Given the description of an element on the screen output the (x, y) to click on. 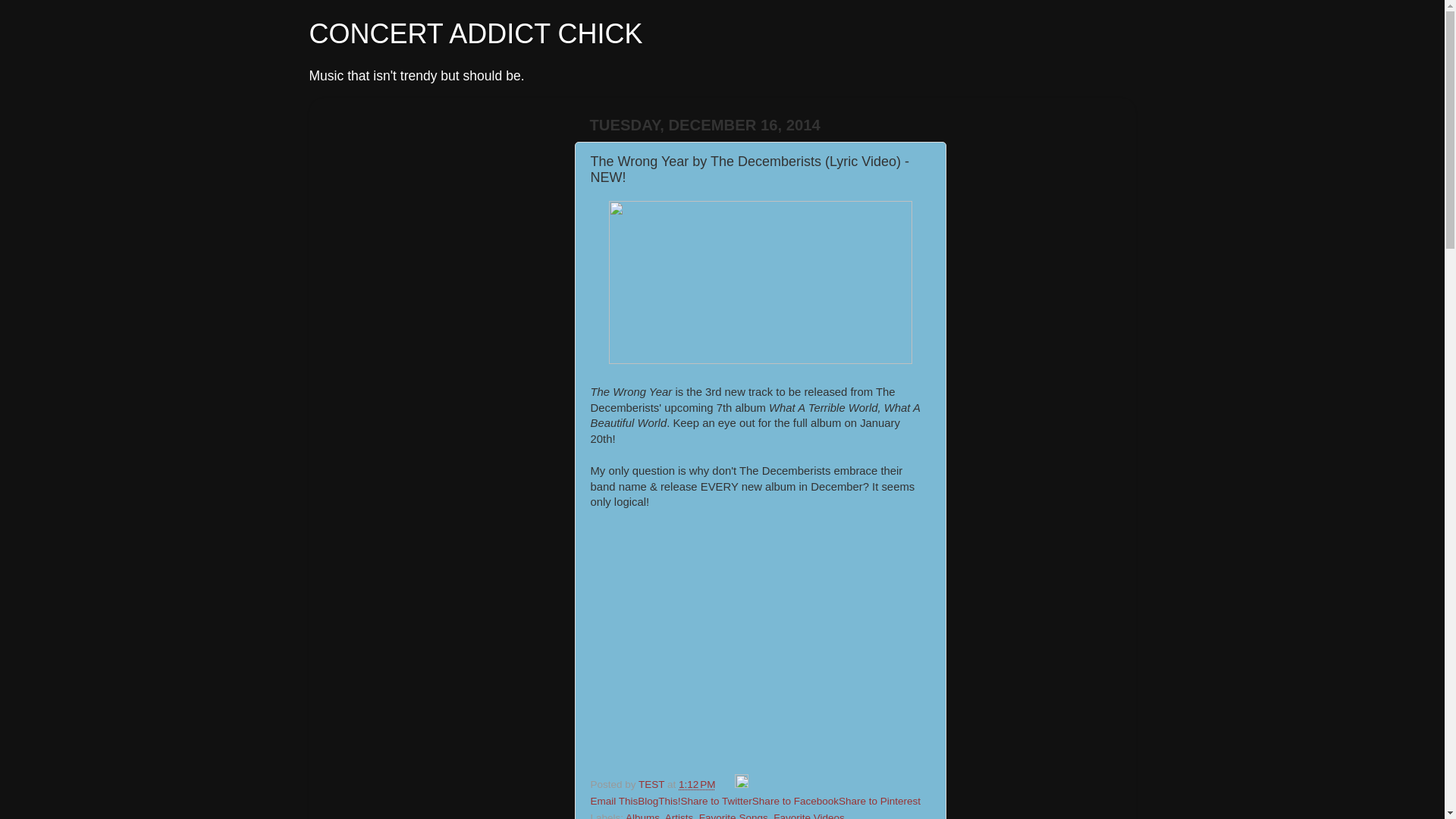
Email This (613, 800)
permanent link (696, 784)
Edit Post (741, 784)
BlogThis! (658, 800)
author profile (652, 784)
Favorite Songs (733, 815)
Share to Facebook (795, 800)
Share to Pinterest (879, 800)
CONCERT ADDICT CHICK (475, 33)
Share to Pinterest (879, 800)
Artists (679, 815)
Share to Facebook (795, 800)
Email This (613, 800)
Favorite Videos (808, 815)
